Given the description of an element on the screen output the (x, y) to click on. 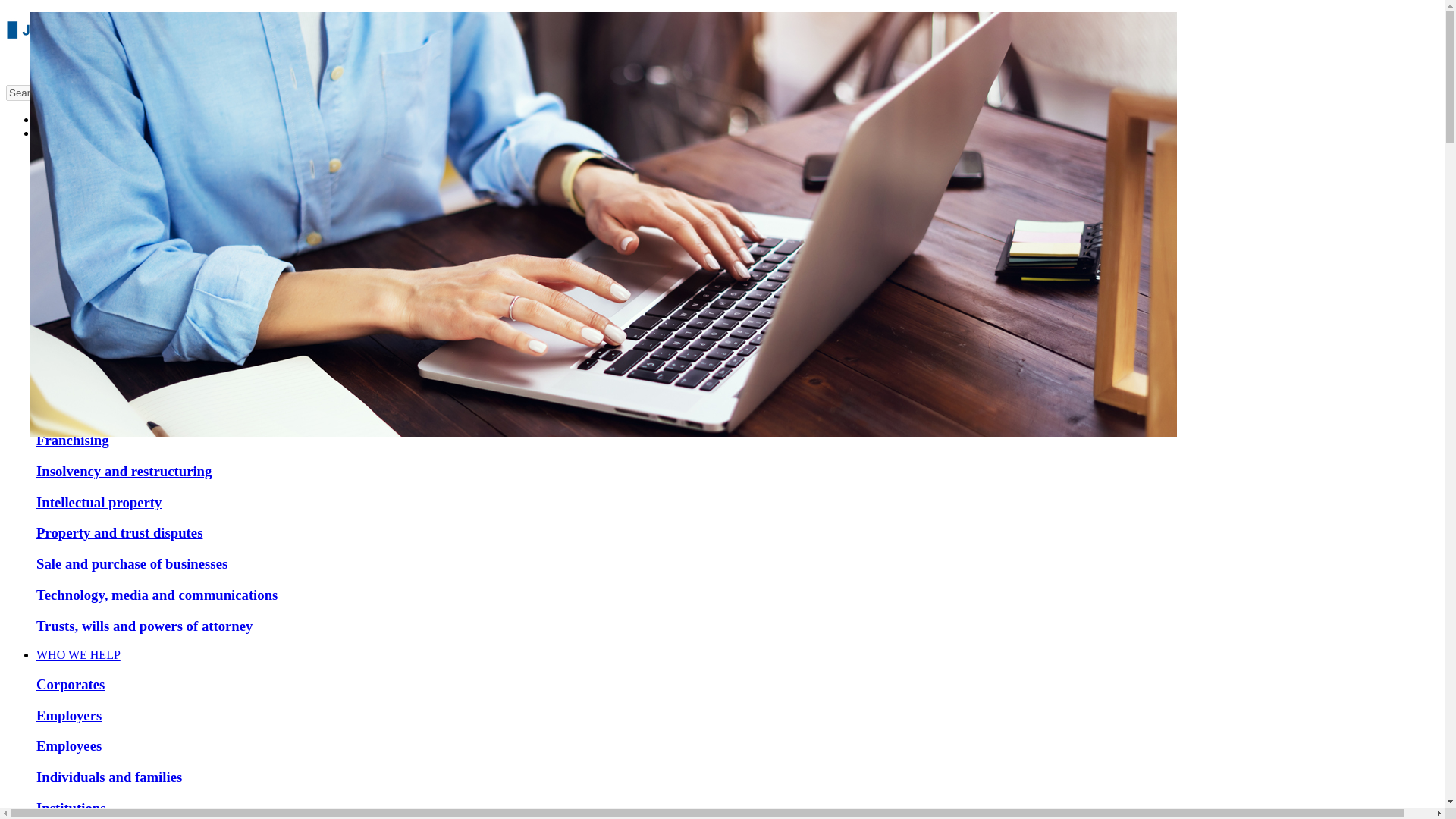
Sale and purchase of businesses (131, 563)
Corporate and commercial law (130, 316)
Search (147, 92)
Individuals and families (109, 776)
Intellectual property (98, 502)
Employees (68, 745)
Property and trust disputes (119, 532)
Commercial property and leases (134, 192)
Trusts, wills and powers of attorney (143, 625)
Search (147, 92)
Search (72, 92)
Institutions (70, 807)
Corporates (70, 684)
Construction and building disputes (142, 223)
Jackson Russell Lawyers (84, 43)
